Given the description of an element on the screen output the (x, y) to click on. 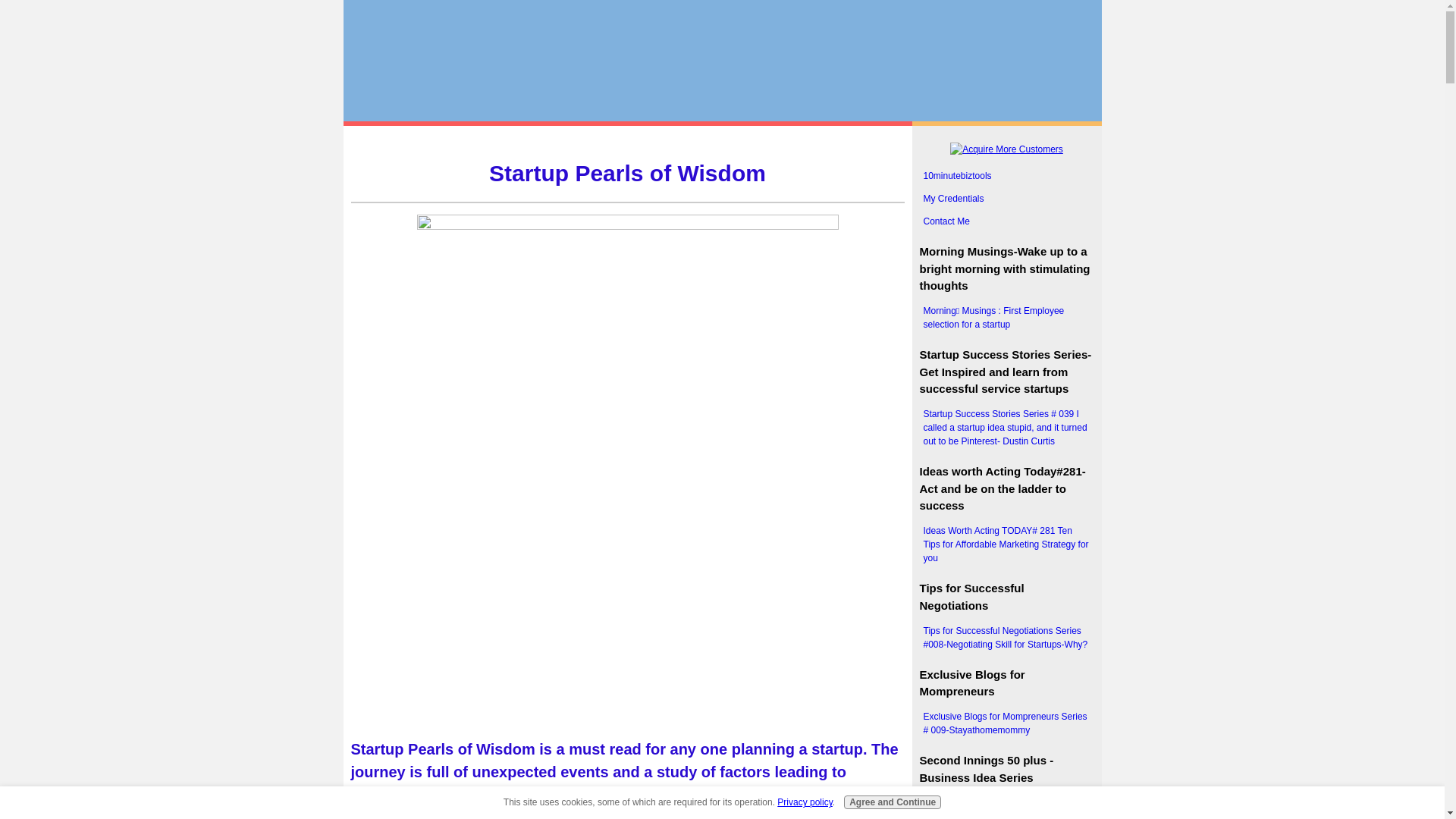
Acquire Customers (1006, 149)
My Credentials (1005, 198)
10minutebiztools (1005, 175)
Contact Me (1005, 220)
